Given the description of an element on the screen output the (x, y) to click on. 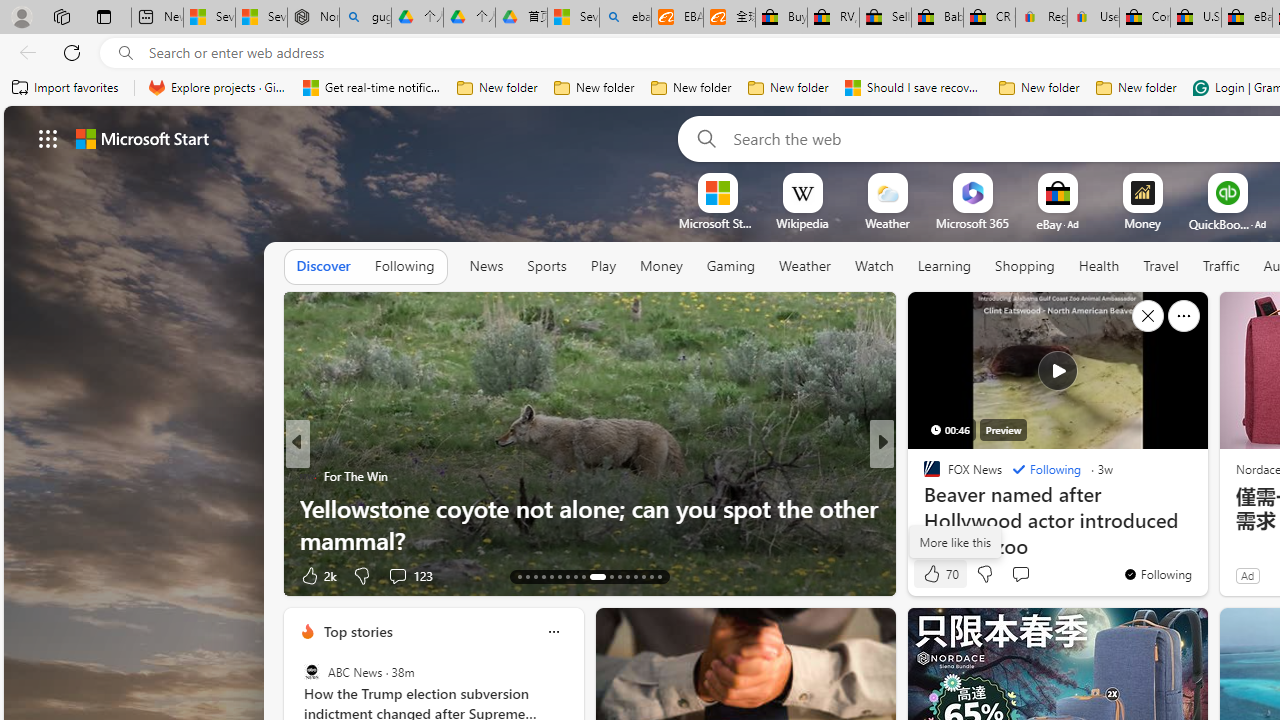
Consumer Health Data Privacy Policy - eBay Inc. (1144, 17)
191 Like (936, 574)
315 Like (936, 574)
Shopping (1025, 265)
To get missing image descriptions, open the context menu. (717, 192)
Wikipedia (802, 223)
View comments 24 Comment (1019, 575)
70 Like (939, 574)
AutomationID: tab-33 (642, 576)
AutomationID: tab-34 (650, 576)
